Given the description of an element on the screen output the (x, y) to click on. 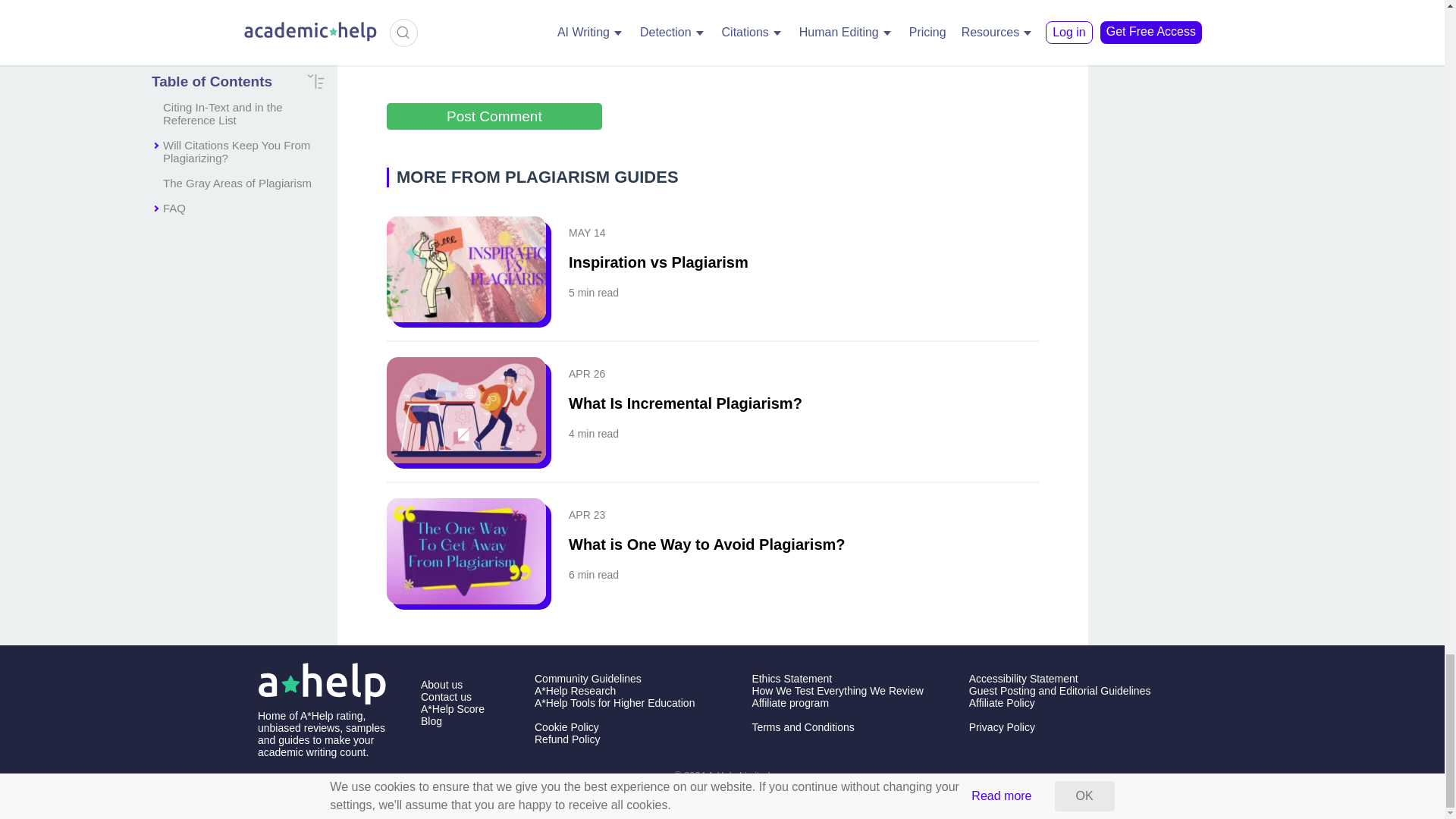
Post Comment (494, 116)
yes (394, 50)
